Given the description of an element on the screen output the (x, y) to click on. 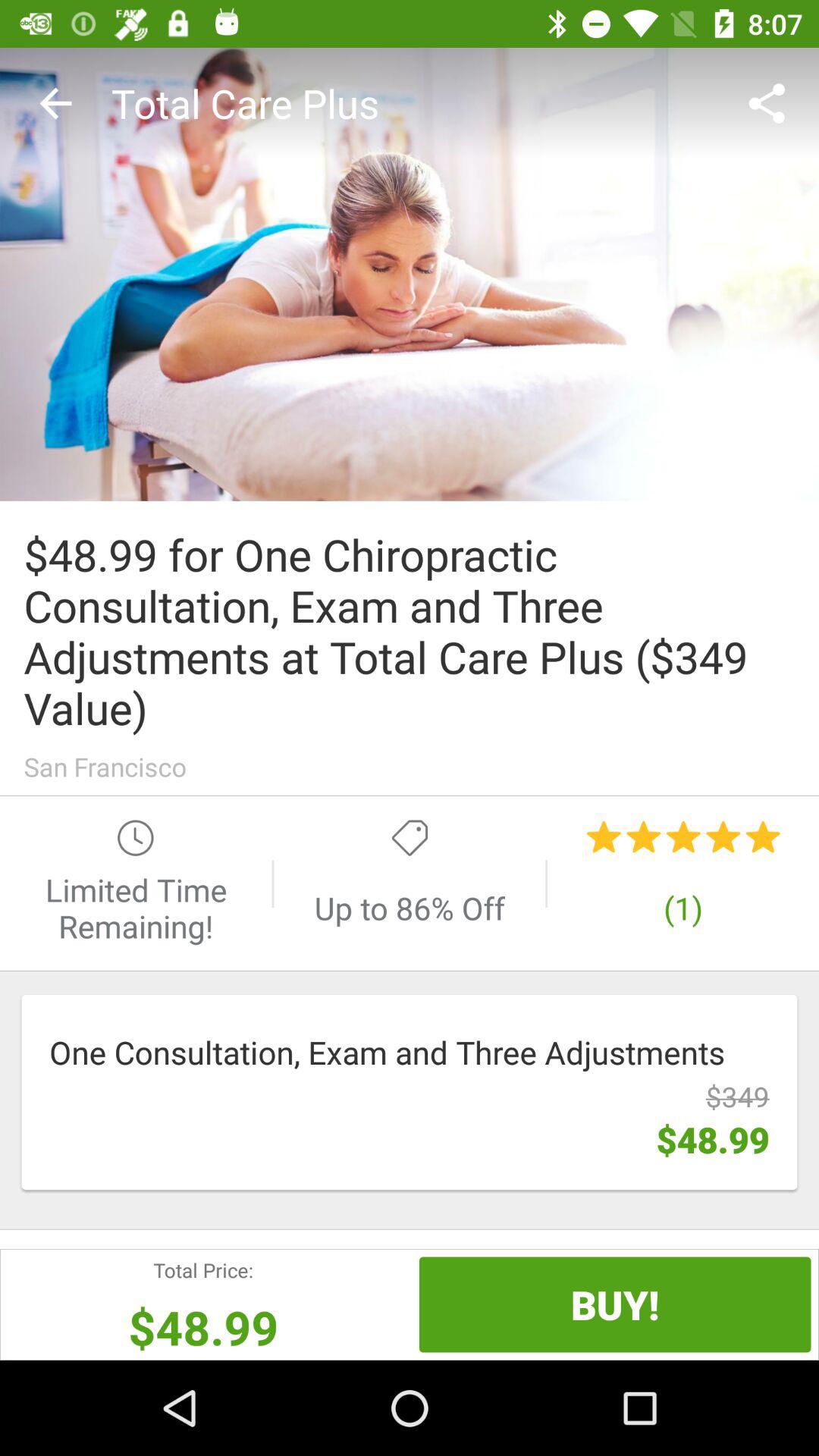
open icon above 48 99 for (409, 274)
